Given the description of an element on the screen output the (x, y) to click on. 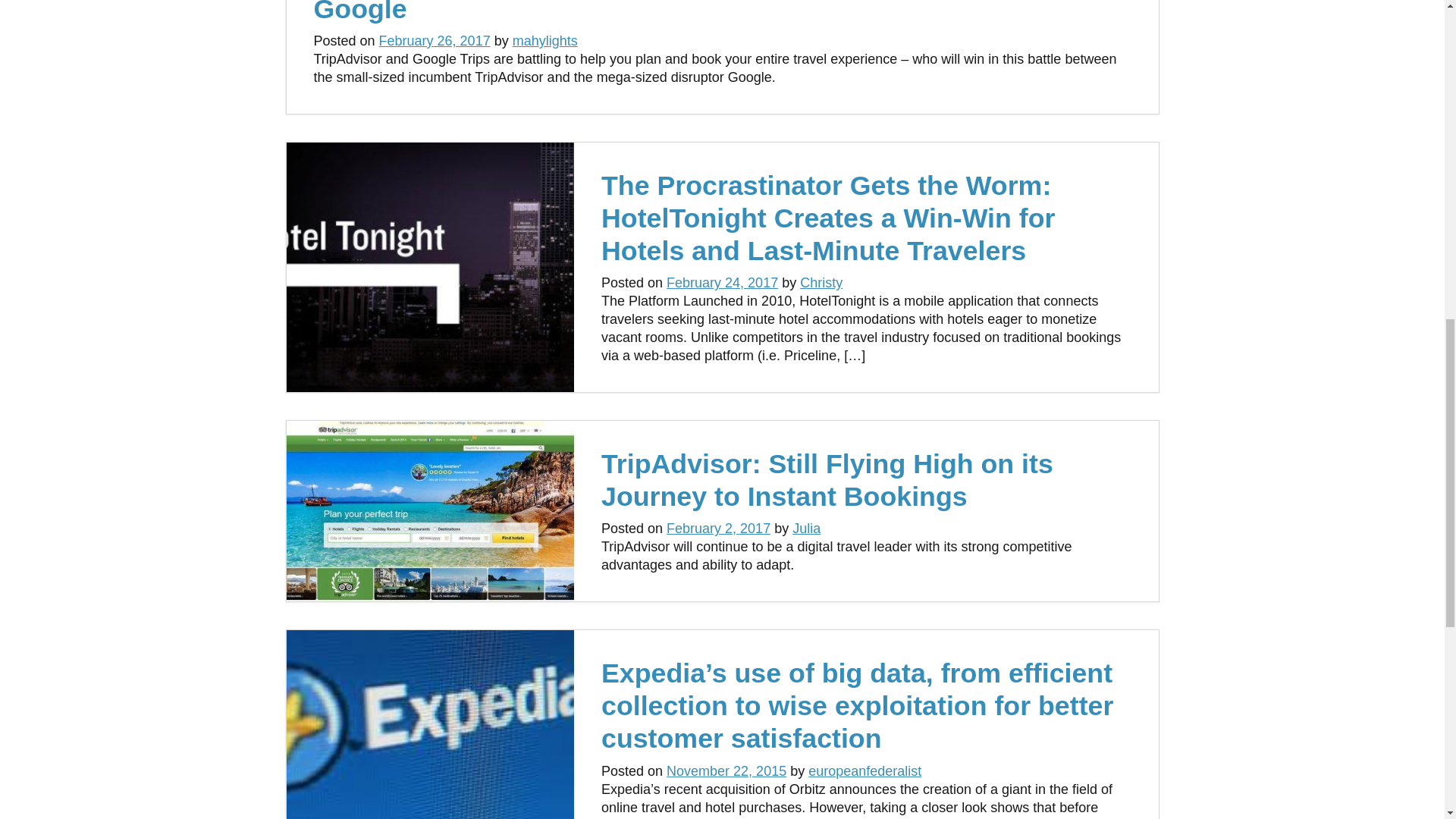
February 2, 2017 (718, 528)
Christy (821, 282)
Julia (806, 528)
February 26, 2017 (434, 40)
November 22, 2015 (726, 770)
February 24, 2017 (721, 282)
europeanfederalist (864, 770)
mahylights (545, 40)
